Given the description of an element on the screen output the (x, y) to click on. 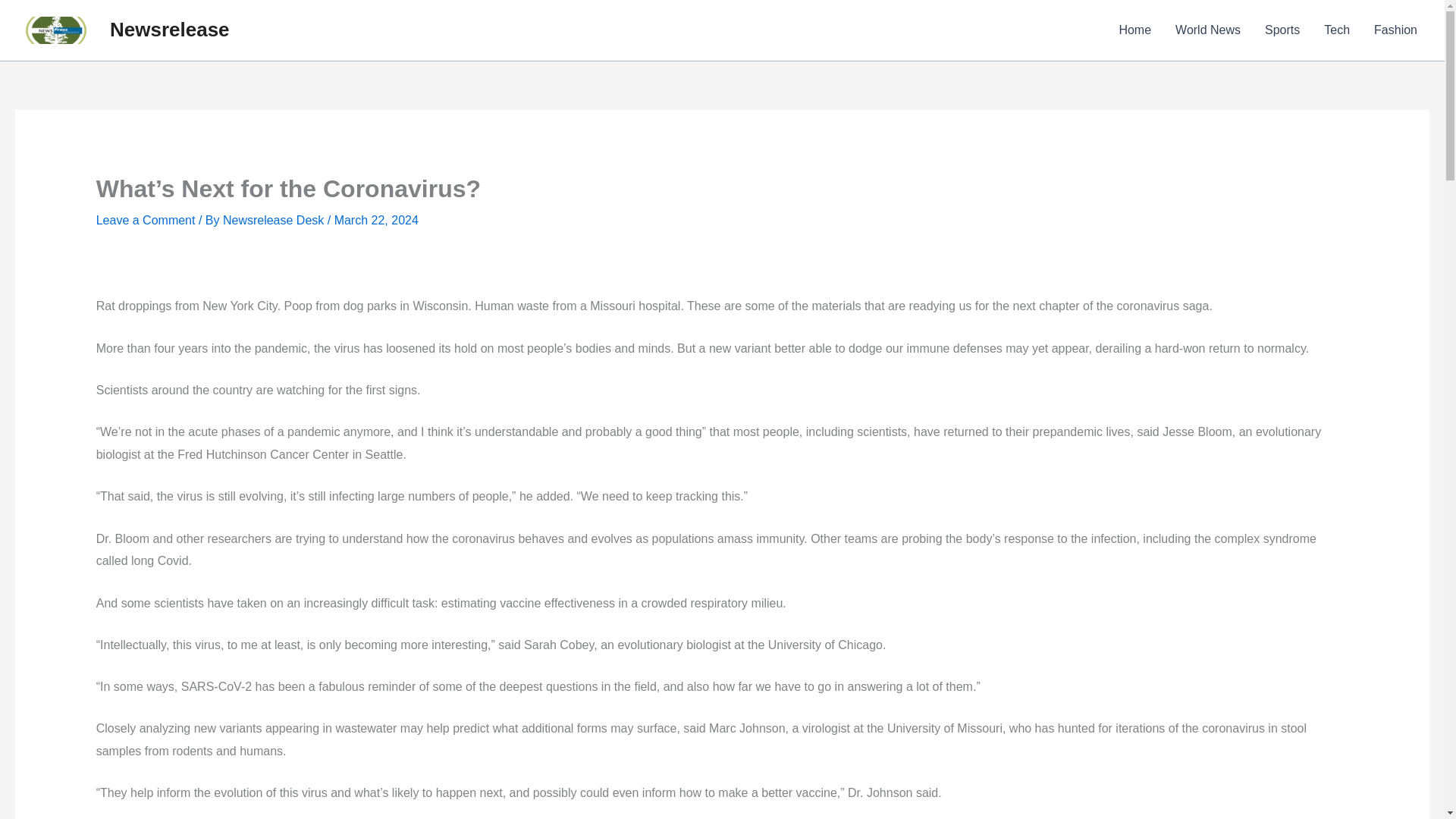
World News (1207, 30)
Sports (1281, 30)
Newsrelease Desk (274, 219)
Fashion (1395, 30)
View all posts by Newsrelease Desk (274, 219)
Home (1134, 30)
Newsrelease (170, 29)
Leave a Comment (145, 219)
Tech (1336, 30)
